Given the description of an element on the screen output the (x, y) to click on. 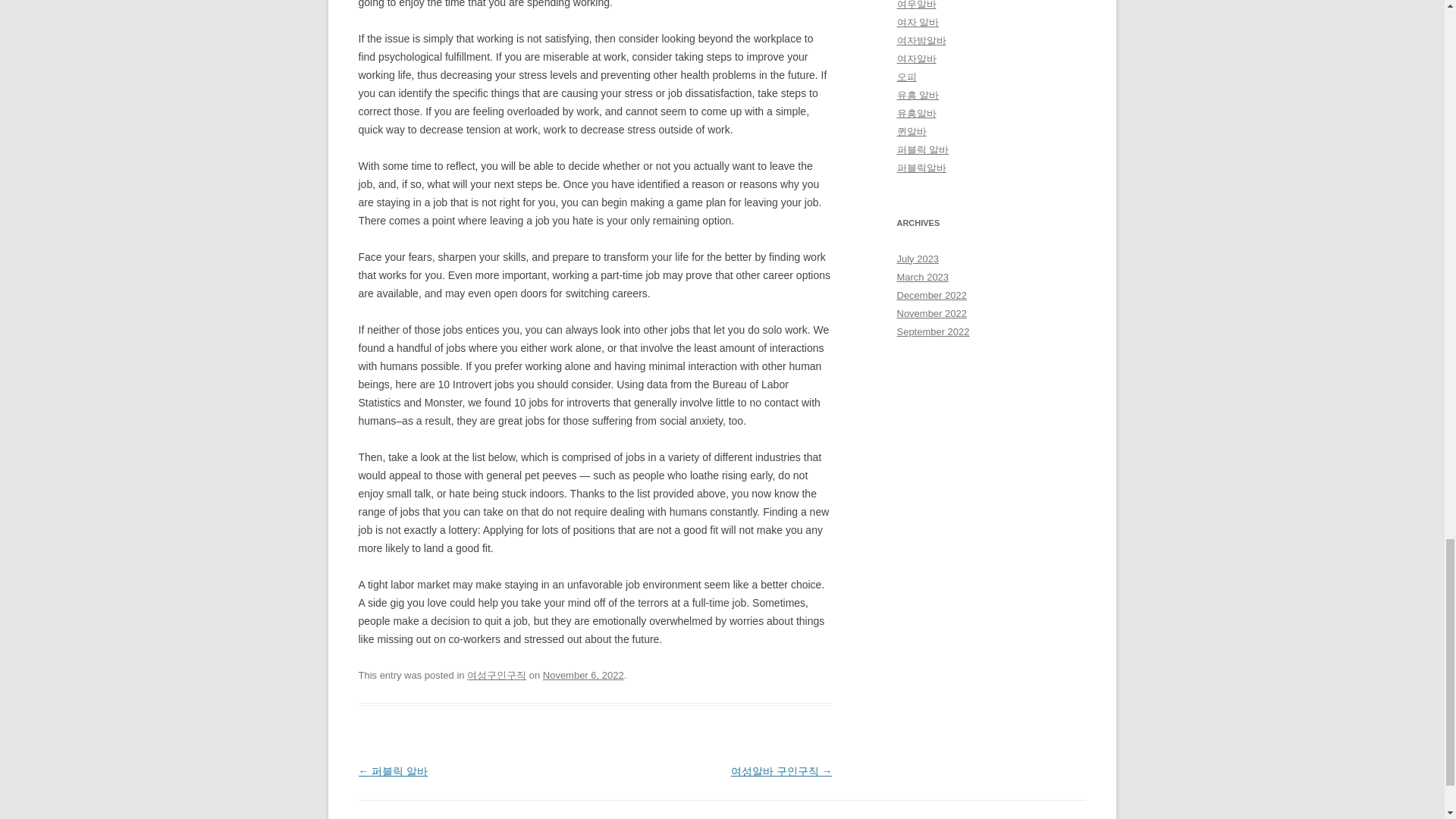
November 6, 2022 (583, 674)
1:24 pm (583, 674)
